Given the description of an element on the screen output the (x, y) to click on. 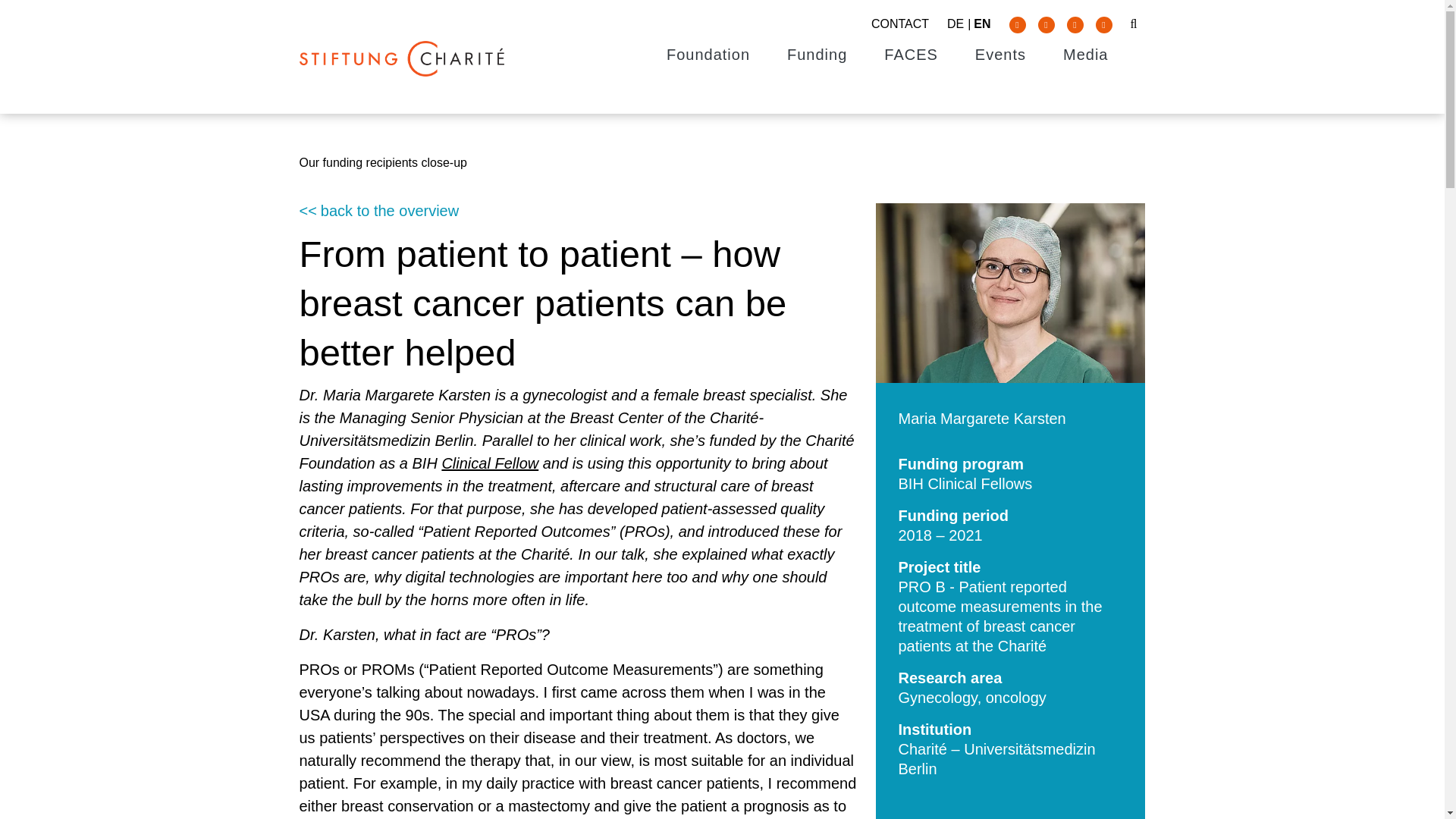
FACES (910, 54)
Clinical Fellow (489, 463)
CONTACT (899, 23)
Events (1000, 54)
Foundation (707, 54)
YouTube (1103, 24)
Events (1000, 54)
back to the overview (577, 210)
Englisch (982, 23)
Contact (899, 23)
